Given the description of an element on the screen output the (x, y) to click on. 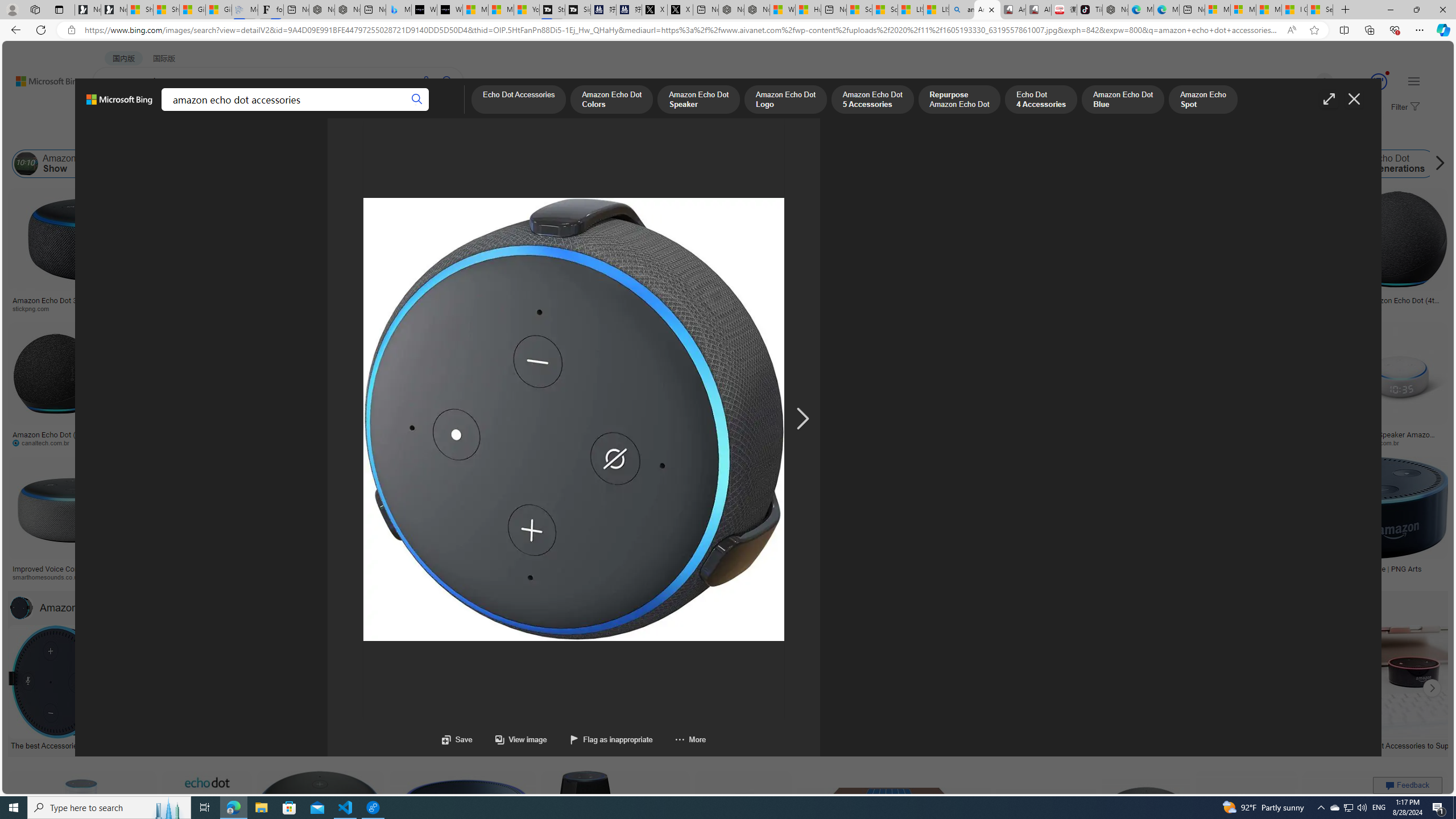
Alexa Dot Transparent Image | PNG Artspngarts.comSave (1366, 521)
Smart Speaker Alexa Echo Dot (565, 296)
Color (173, 135)
Save (457, 739)
stickpng.herokuapp.com (342, 308)
Best Amazon Echo Dot Accessories for 2024 (976, 744)
More (679, 739)
Full screen (1328, 99)
inpower.com.br (1381, 442)
